Given the description of an element on the screen output the (x, y) to click on. 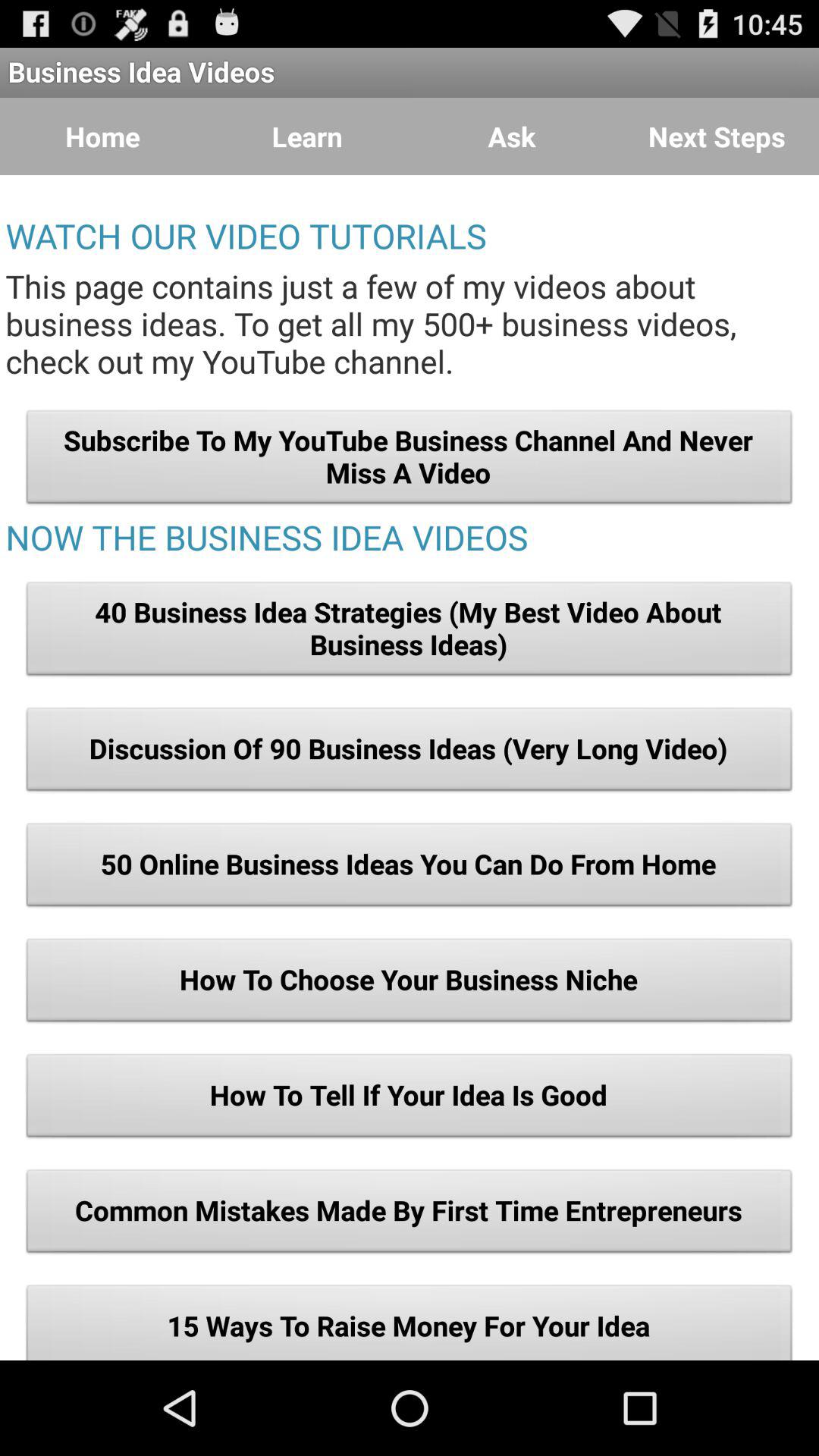
scroll to discussion of 90 icon (409, 753)
